Given the description of an element on the screen output the (x, y) to click on. 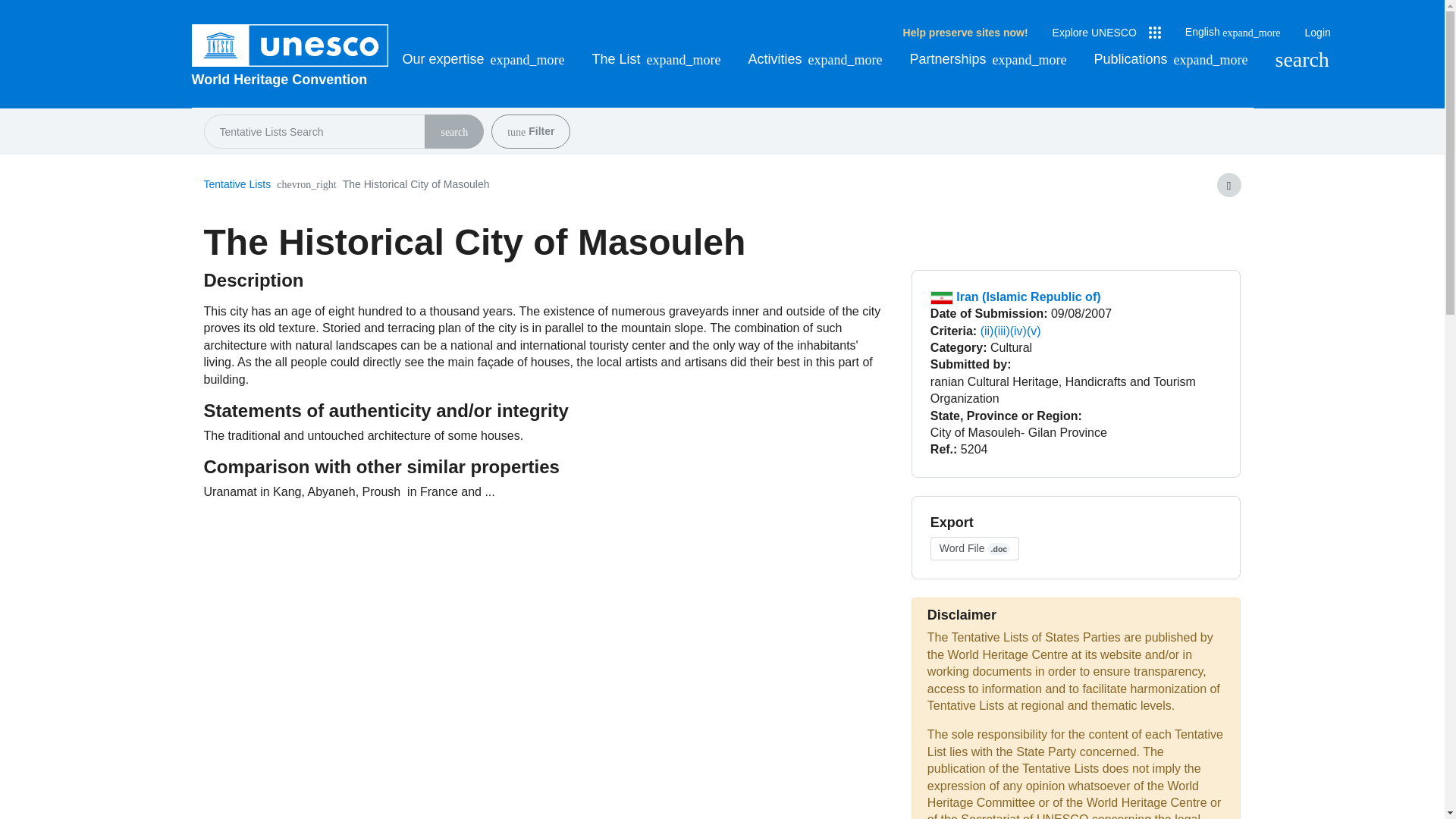
Filter your search (515, 132)
English (1233, 32)
Search (454, 132)
Search (1302, 59)
Explore UNESCO (1106, 32)
World Heritage Convention (289, 79)
Login (1317, 32)
The List (656, 58)
Our expertise (482, 58)
Help preserve sites now! (964, 32)
